Given the description of an element on the screen output the (x, y) to click on. 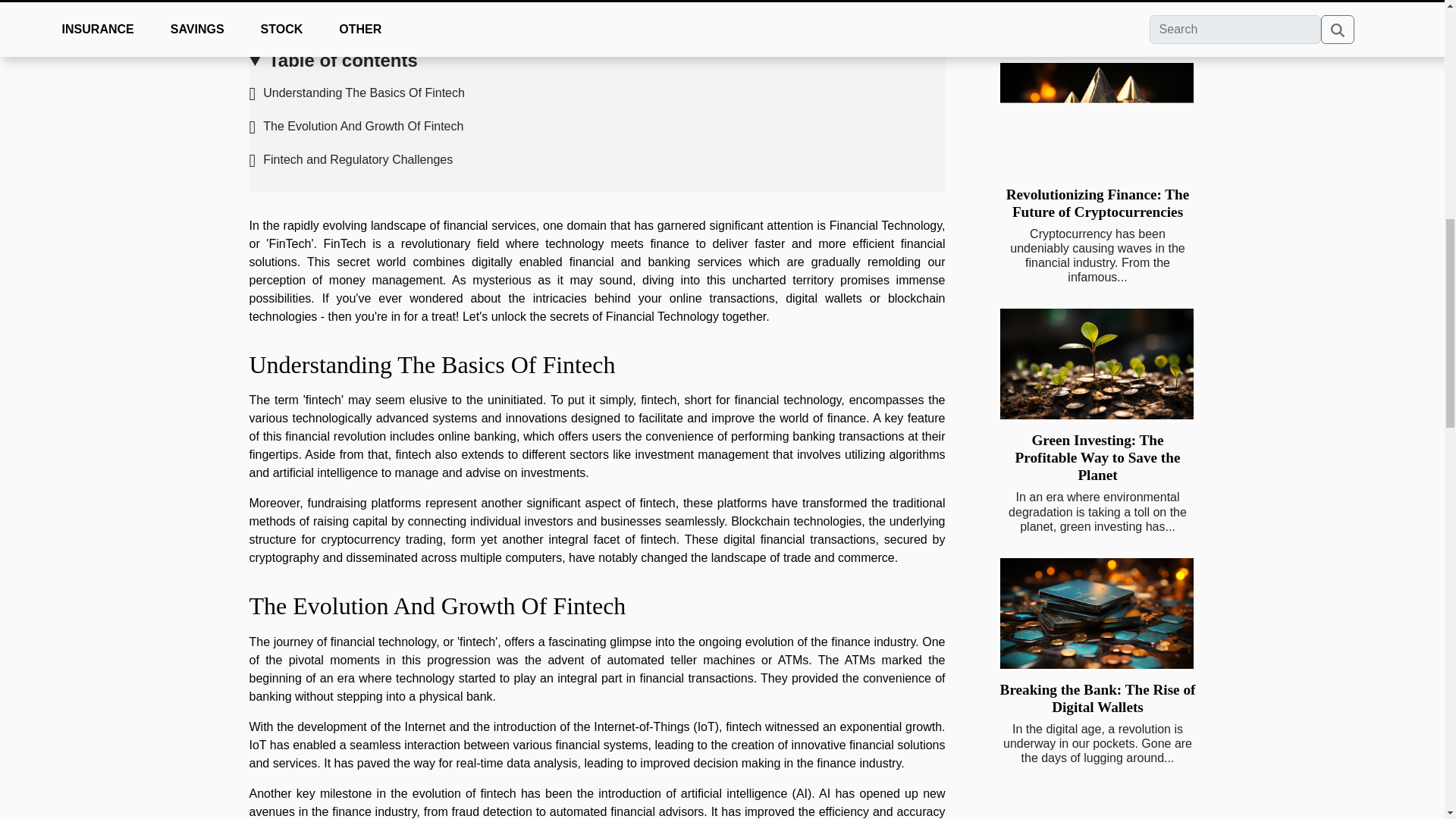
Revolutionizing Finance: The Future of Cryptocurrencies (1097, 203)
Revolutionizing Finance: The Future of Cryptocurrencies (1095, 118)
Green Investing: The Profitable Way to Save the Planet (1097, 457)
Breaking the Bank: The Rise of Digital Wallets (1097, 697)
Understanding The Basics Of Fintech (356, 92)
Green Investing: The Profitable Way to Save the Planet (1097, 457)
Revolutionizing Finance: The Future of Cryptocurrencies (1097, 203)
The Evolution And Growth Of Fintech (355, 125)
Green Investing: The Profitable Way to Save the Planet (1095, 363)
Breaking the Bank: The Rise of Digital Wallets (1095, 613)
